Given the description of an element on the screen output the (x, y) to click on. 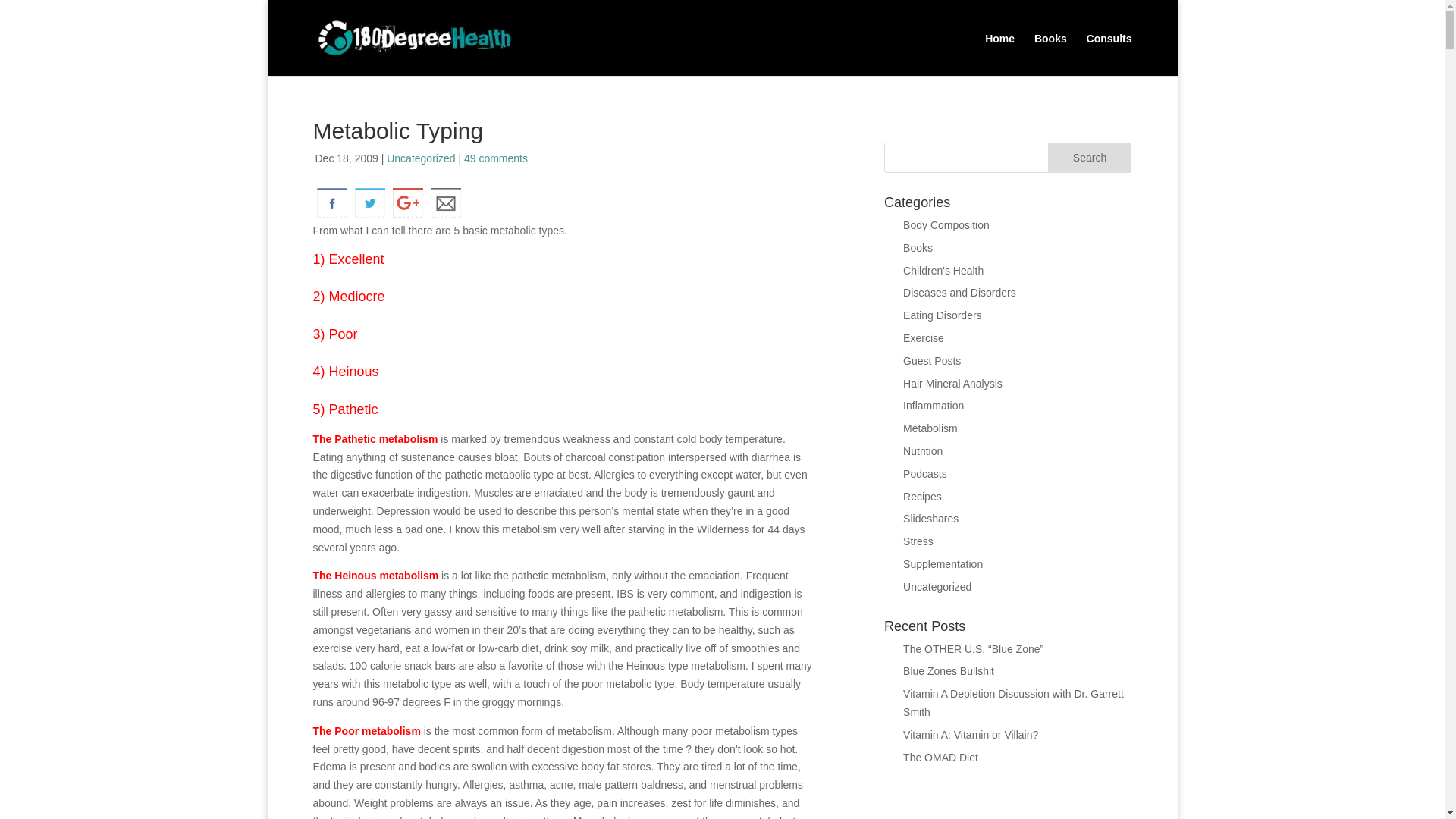
Home (999, 49)
facebook (331, 202)
Uncategorized (420, 158)
email (445, 202)
49 comments (495, 158)
Consults (1109, 49)
google (407, 202)
Search (1090, 157)
twitter (369, 202)
Books (1050, 49)
